Given the description of an element on the screen output the (x, y) to click on. 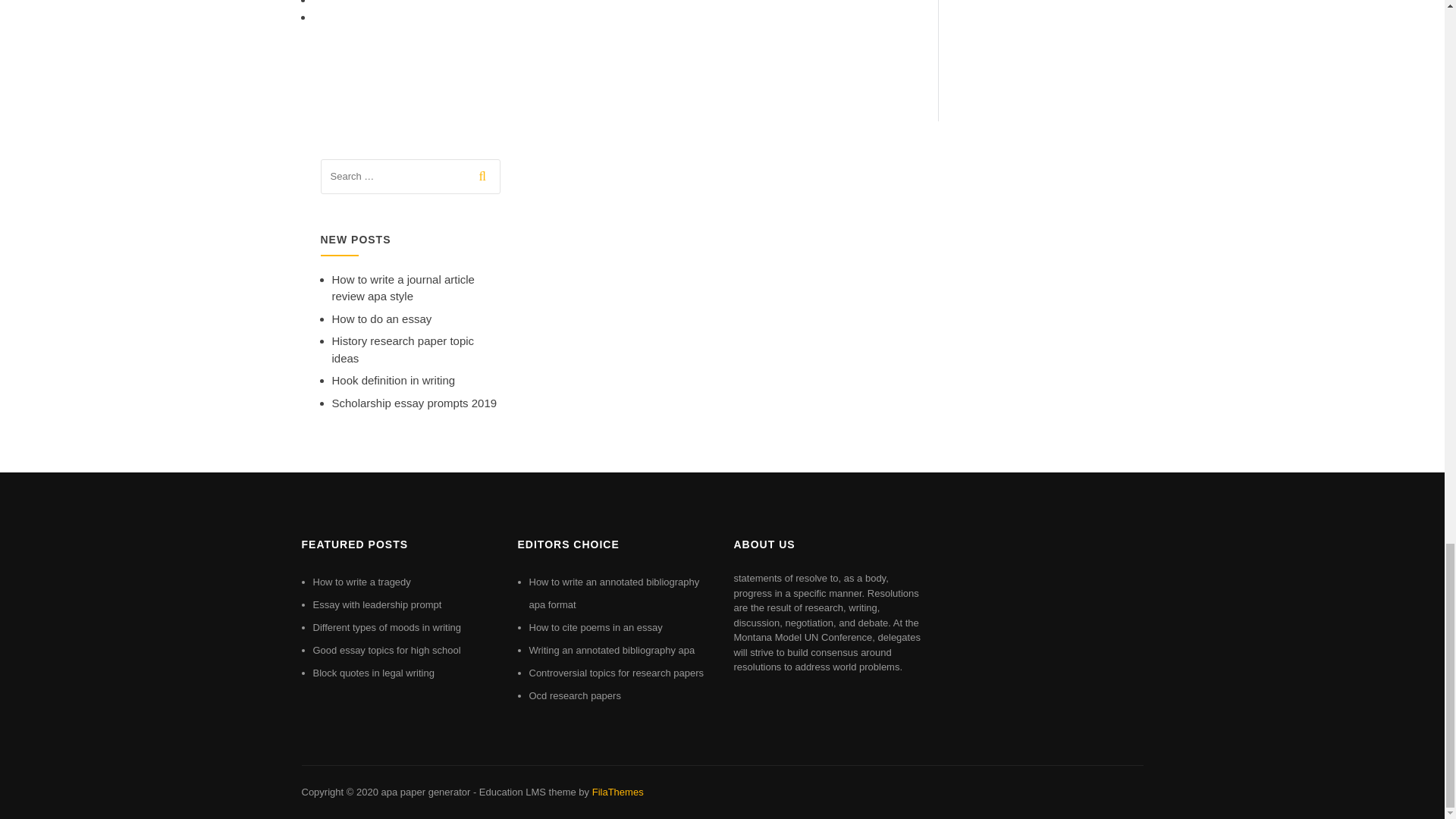
Good essay topics for high school (386, 650)
Writing an annotated bibliography apa (612, 650)
Block quotes in legal writing (373, 672)
Controversial topics for research papers (616, 672)
How to write an annotated bibliography apa format (614, 593)
How to do an essay (381, 318)
How to cite poems in an essay (595, 627)
Essay with leadership prompt (377, 604)
How to write a journal article review apa style (402, 287)
Hook definition in writing (393, 379)
apa paper generator (425, 791)
Ocd research papers (575, 695)
How to write a tragedy (361, 582)
Scholarship essay prompts 2019 (414, 402)
History research paper topic ideas (402, 349)
